Given the description of an element on the screen output the (x, y) to click on. 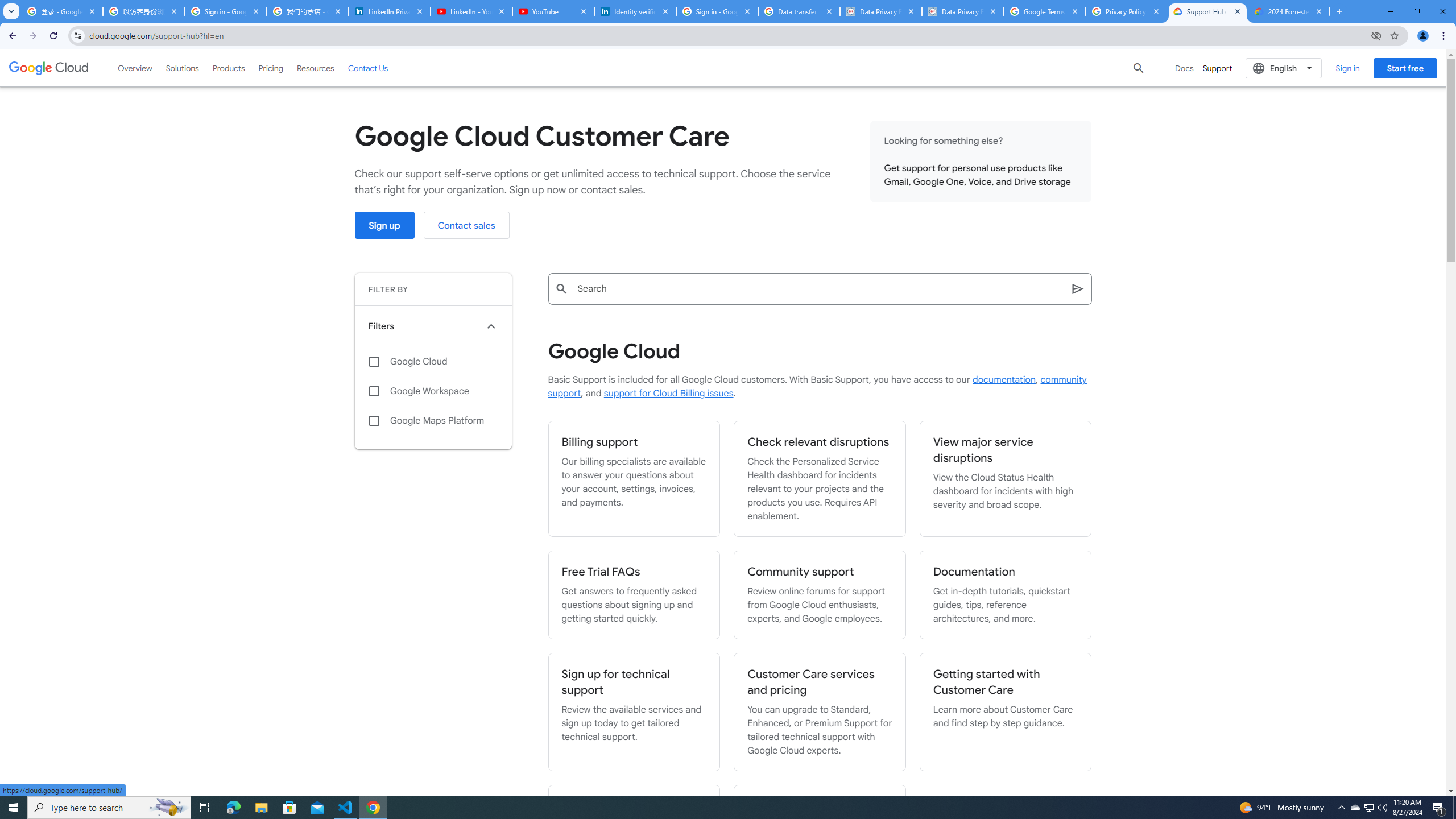
support for Cloud Billing issues (667, 393)
Sign up (383, 225)
Products (228, 67)
Data Privacy Framework (880, 11)
Google Workspace (432, 391)
